Given the description of an element on the screen output the (x, y) to click on. 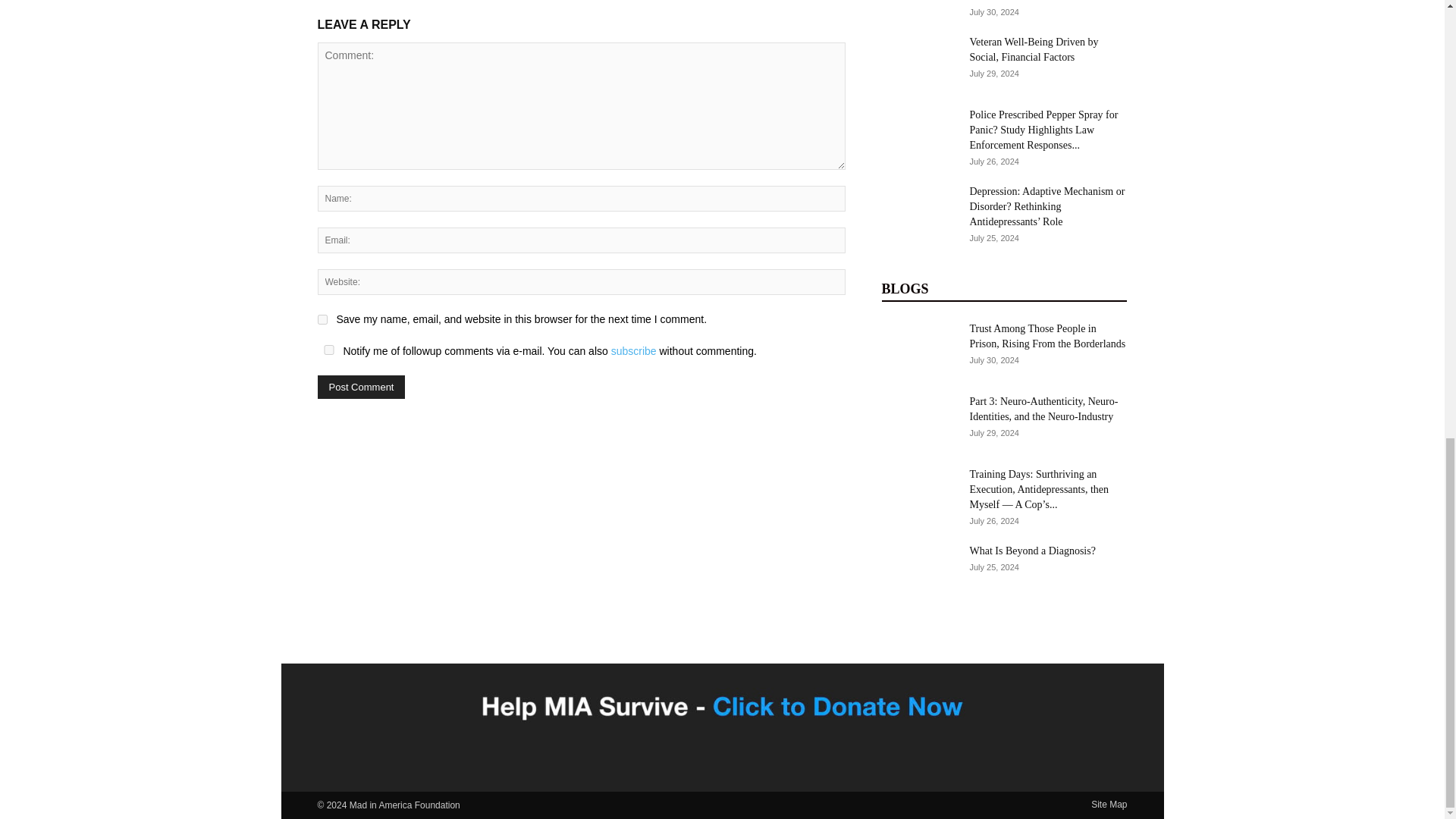
yes (321, 319)
yes (328, 349)
Post Comment (360, 386)
